Given the description of an element on the screen output the (x, y) to click on. 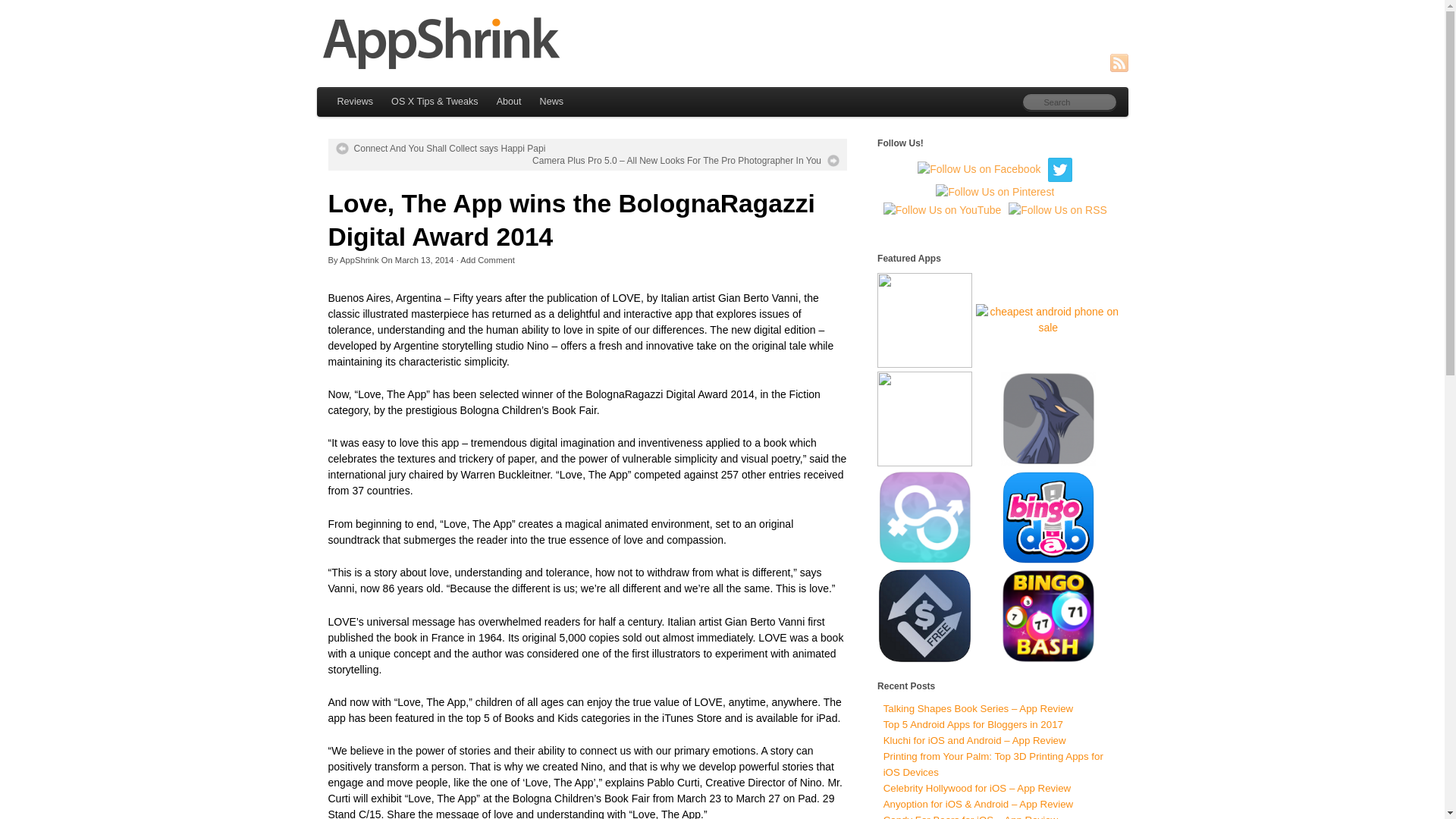
AppShrink (722, 41)
Reviews (354, 102)
News (552, 102)
About (509, 102)
AppShrink (358, 259)
Add Comment (487, 259)
Posts by AppShrink (358, 259)
Reviews (354, 102)
Connect And You Shall Collect says Happi Papi (439, 148)
